Given the description of an element on the screen output the (x, y) to click on. 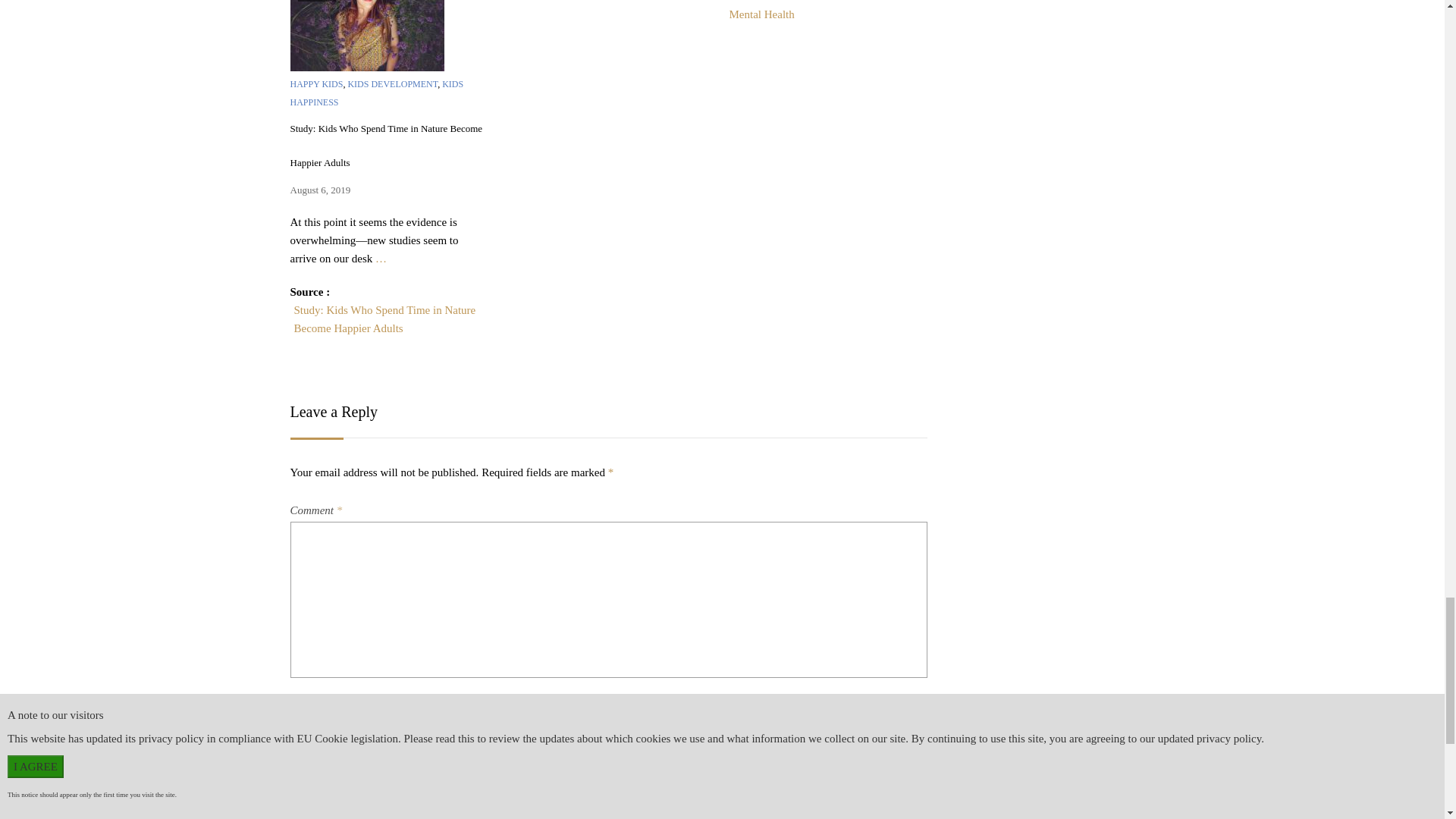
yes (301, 779)
August (315, 0)
